Given the description of an element on the screen output the (x, y) to click on. 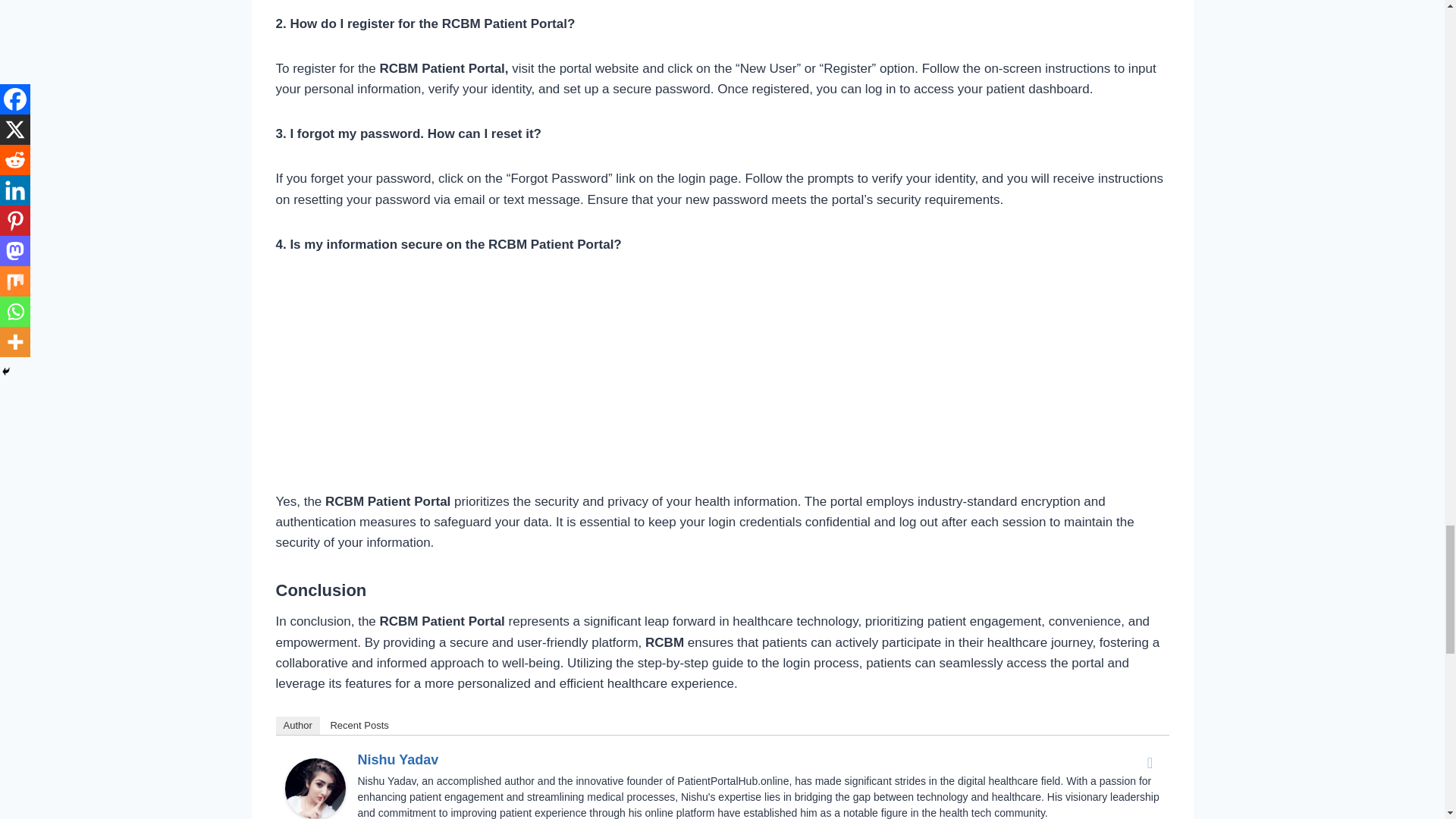
Author (298, 725)
Recent Posts (358, 725)
Nishu Yadav (315, 788)
Nishu Yadav (398, 759)
Twitter (1149, 762)
